Given the description of an element on the screen output the (x, y) to click on. 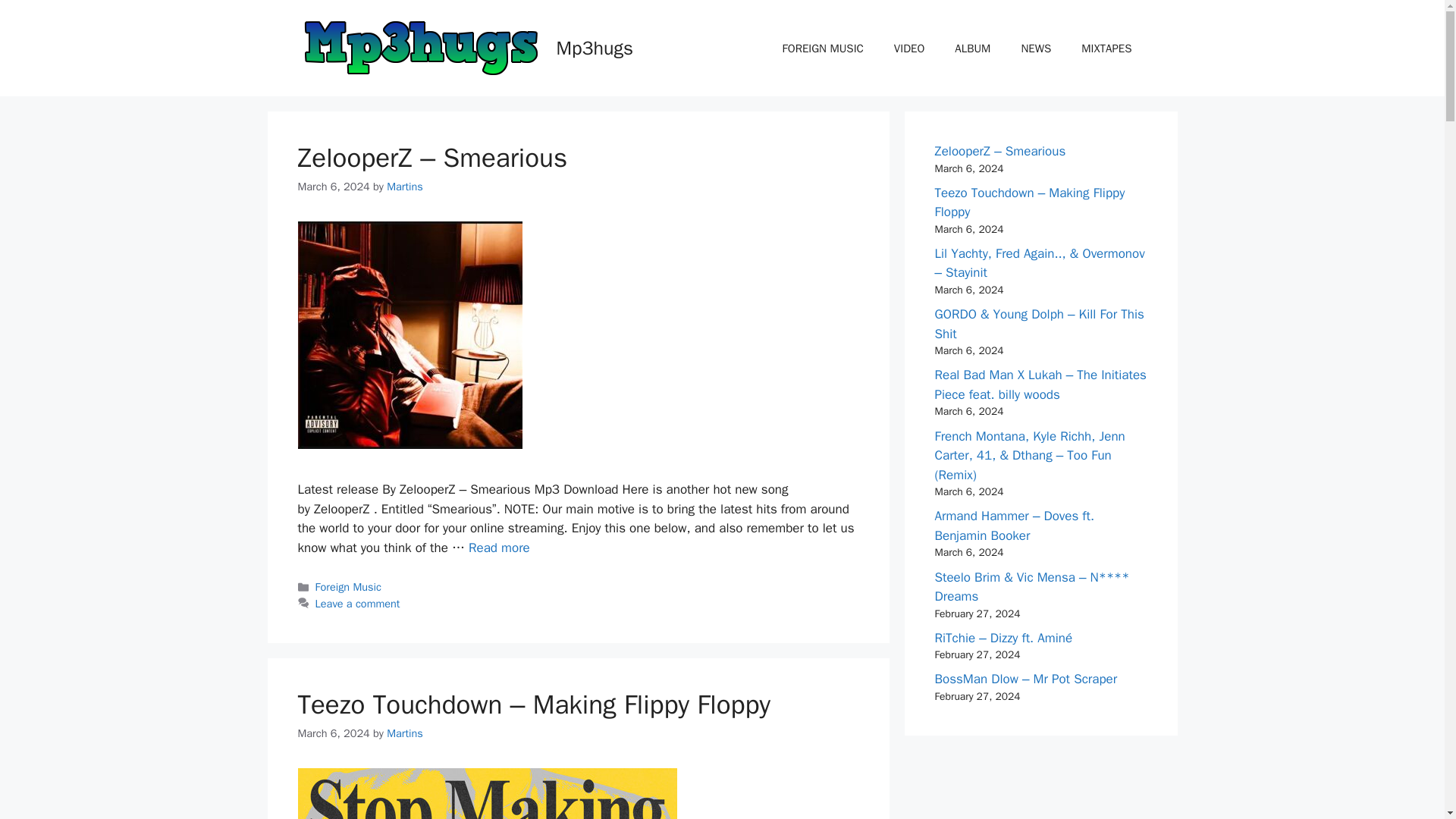
Read more (498, 547)
ALBUM (972, 48)
View all posts by Martins (405, 733)
Mp3hugs (594, 47)
VIDEO (909, 48)
Martins (405, 733)
MIXTAPES (1106, 48)
Foreign Music (348, 586)
FOREIGN MUSIC (823, 48)
Martins (405, 186)
NEWS (1035, 48)
View all posts by Martins (405, 186)
Leave a comment (357, 603)
